Given the description of an element on the screen output the (x, y) to click on. 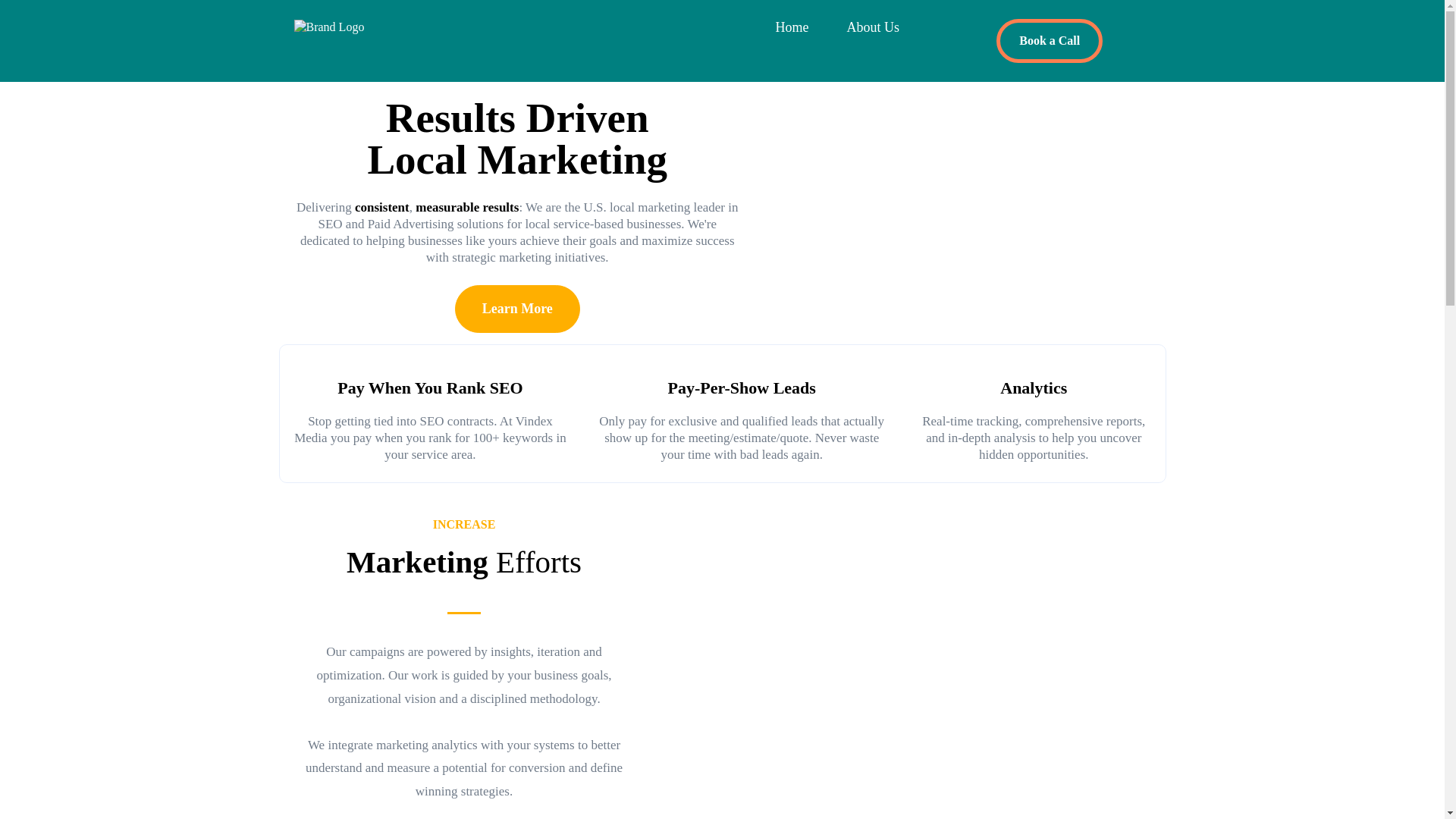
Learn More (516, 308)
Book a Call (1048, 40)
Home (791, 27)
About Us (872, 27)
